Given the description of an element on the screen output the (x, y) to click on. 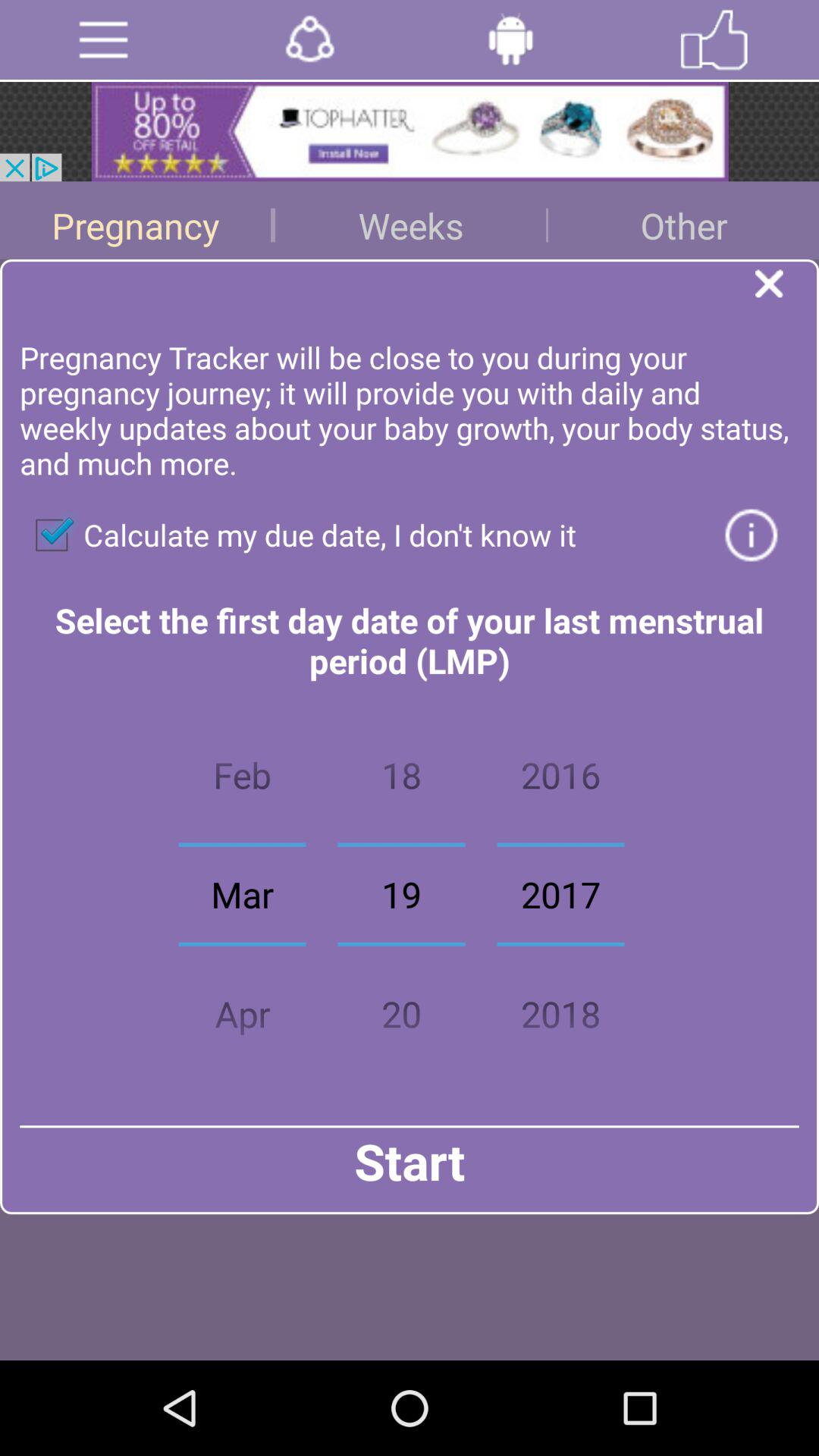
icon button (751, 535)
